Given the description of an element on the screen output the (x, y) to click on. 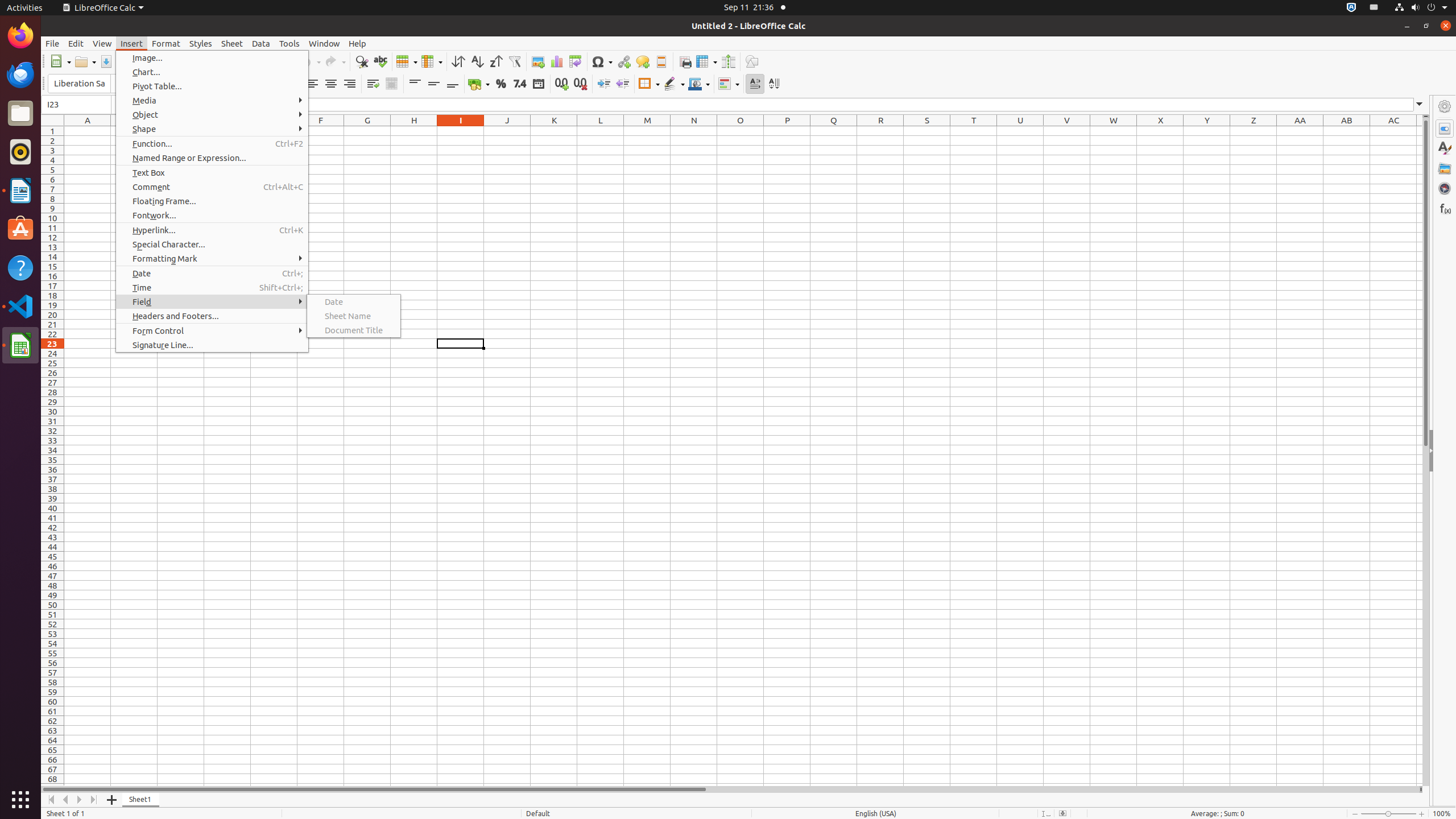
Percent Element type: push-button (500, 83)
W1 Element type: table-cell (1113, 130)
Conditional Element type: push-button (728, 83)
Z1 Element type: table-cell (1253, 130)
Tools Element type: menu (289, 43)
